Given the description of an element on the screen output the (x, y) to click on. 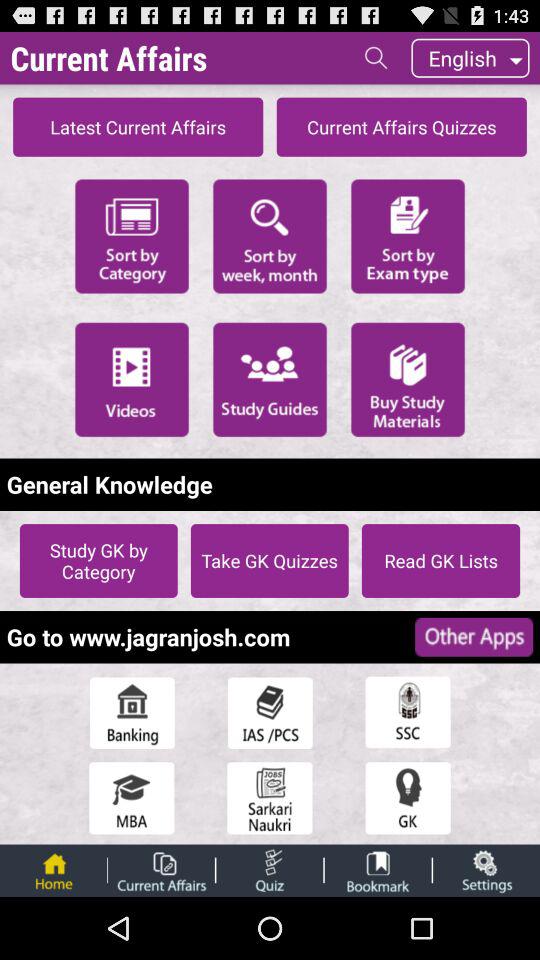
search current affairs (375, 57)
